Given the description of an element on the screen output the (x, y) to click on. 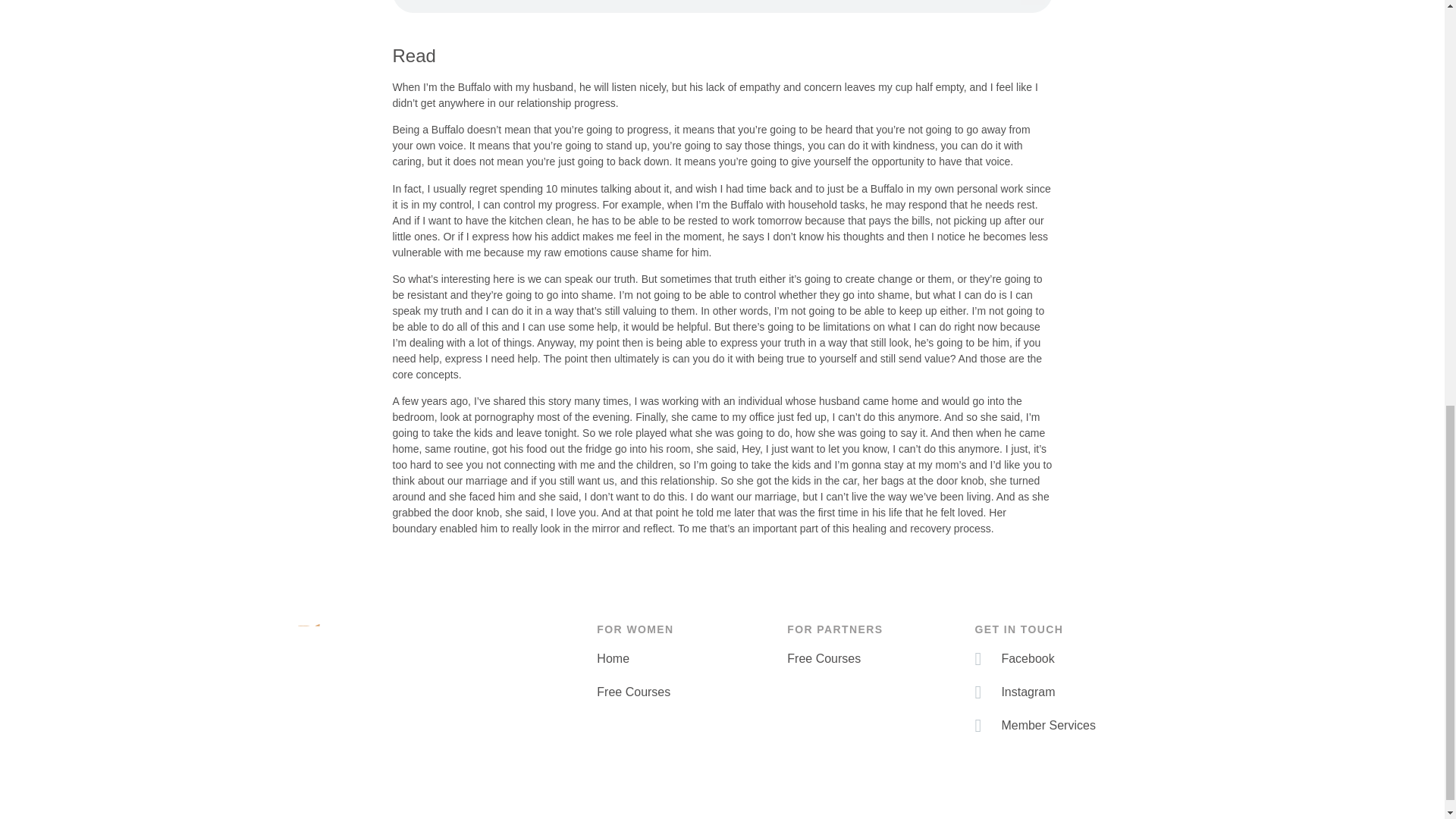
Instagram (1060, 692)
Free Courses (873, 659)
Facebook (1060, 659)
Free Courses (683, 692)
Home (683, 659)
Member Services (1060, 725)
